Given the description of an element on the screen output the (x, y) to click on. 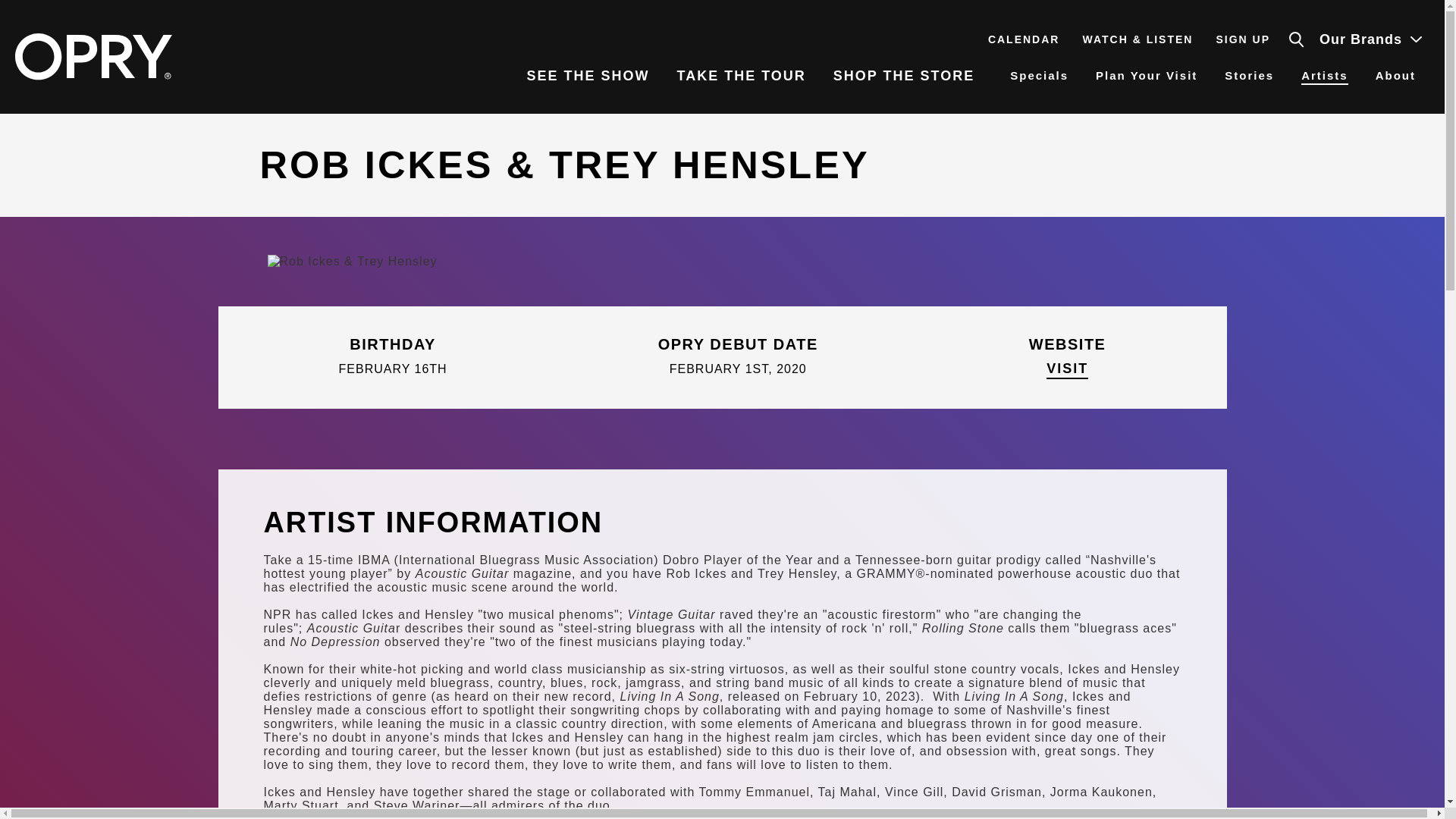
SEE THE SHOW (587, 76)
Opry (92, 56)
SIGN UP (1242, 39)
TAKE THE TOUR (741, 76)
Artists (1324, 76)
SHOP THE STORE (911, 76)
Stories (1249, 76)
Our Brands (1366, 39)
CALENDAR (1023, 39)
Specials (1039, 76)
